Given the description of an element on the screen output the (x, y) to click on. 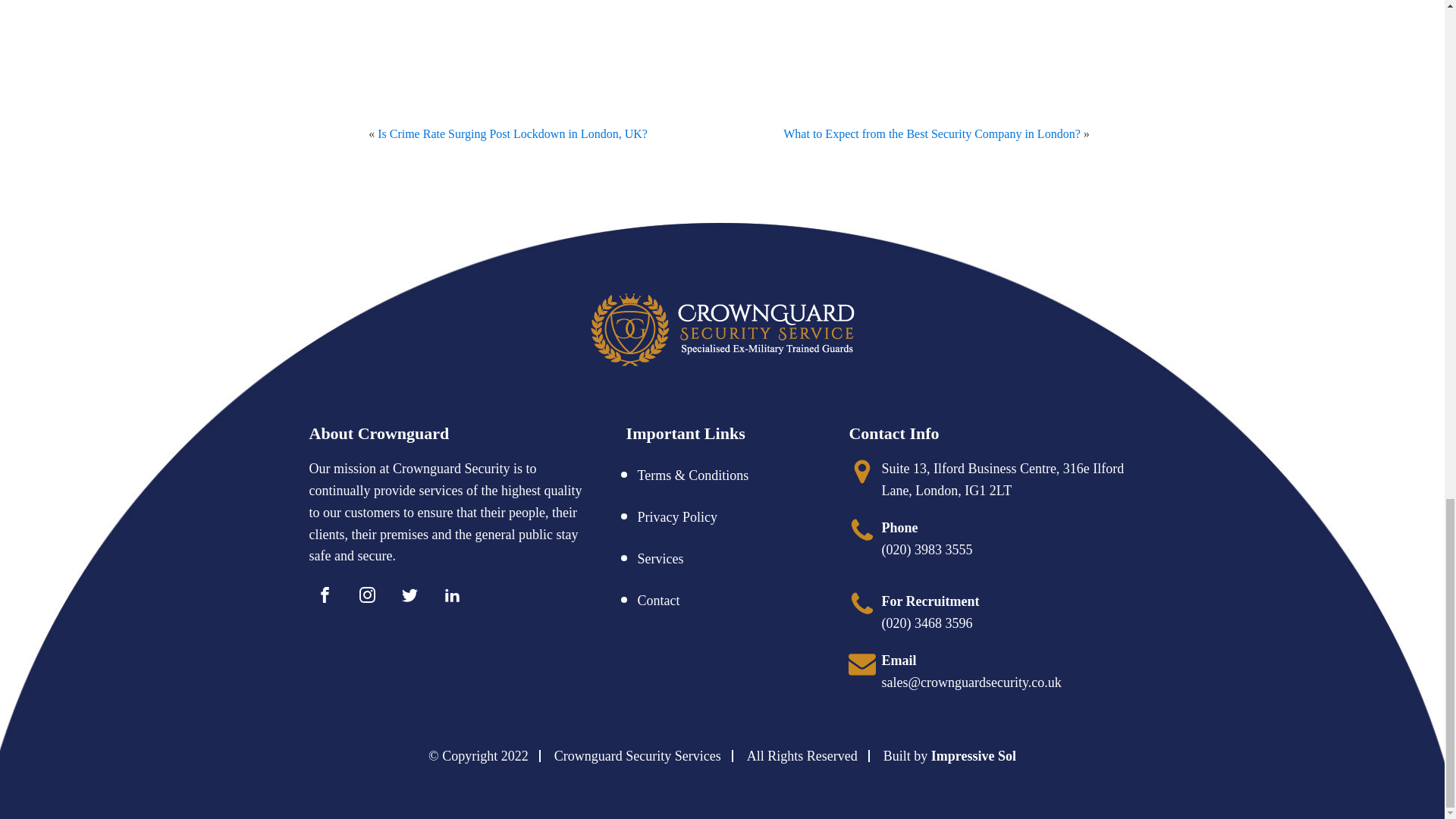
What to Expect from the Best Security Company in London? (931, 133)
Privacy Policy (677, 516)
Impressive Sol (973, 755)
Contact (658, 600)
Is Crime Rate Surging Post Lockdown in London, UK? (512, 133)
Services (660, 558)
